Given the description of an element on the screen output the (x, y) to click on. 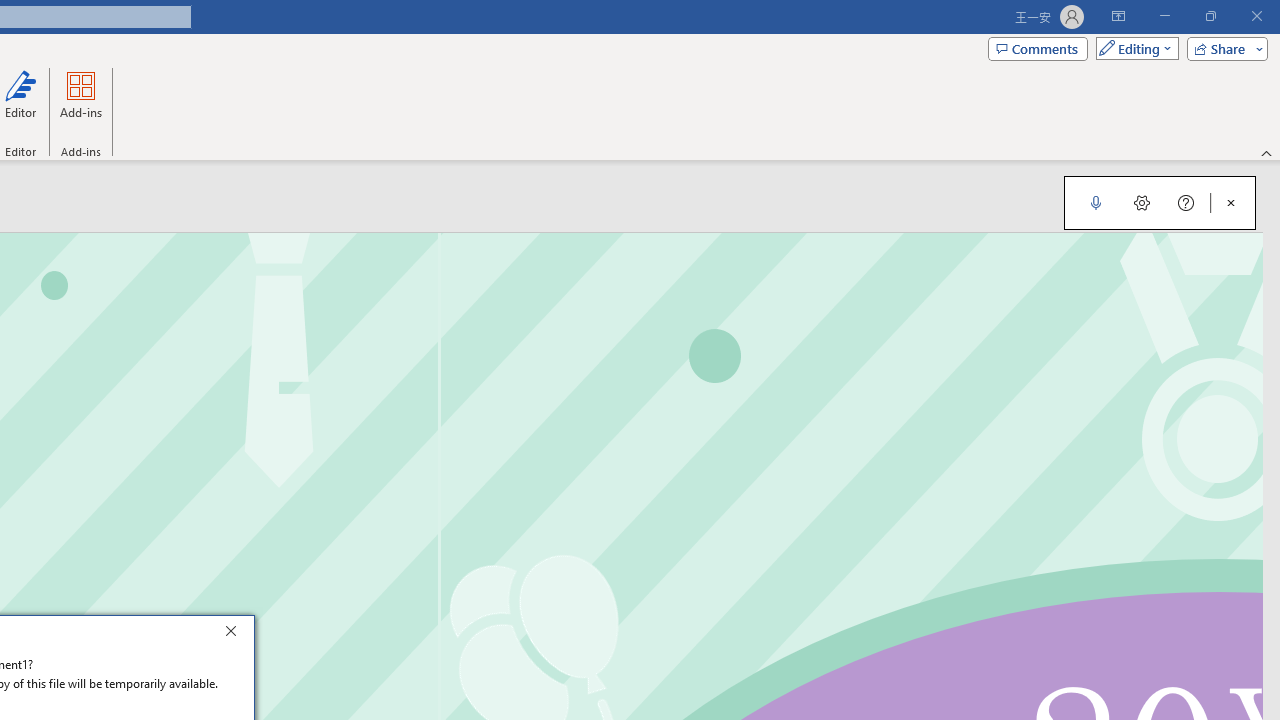
Close Dictation (1231, 202)
